Given the description of an element on the screen output the (x, y) to click on. 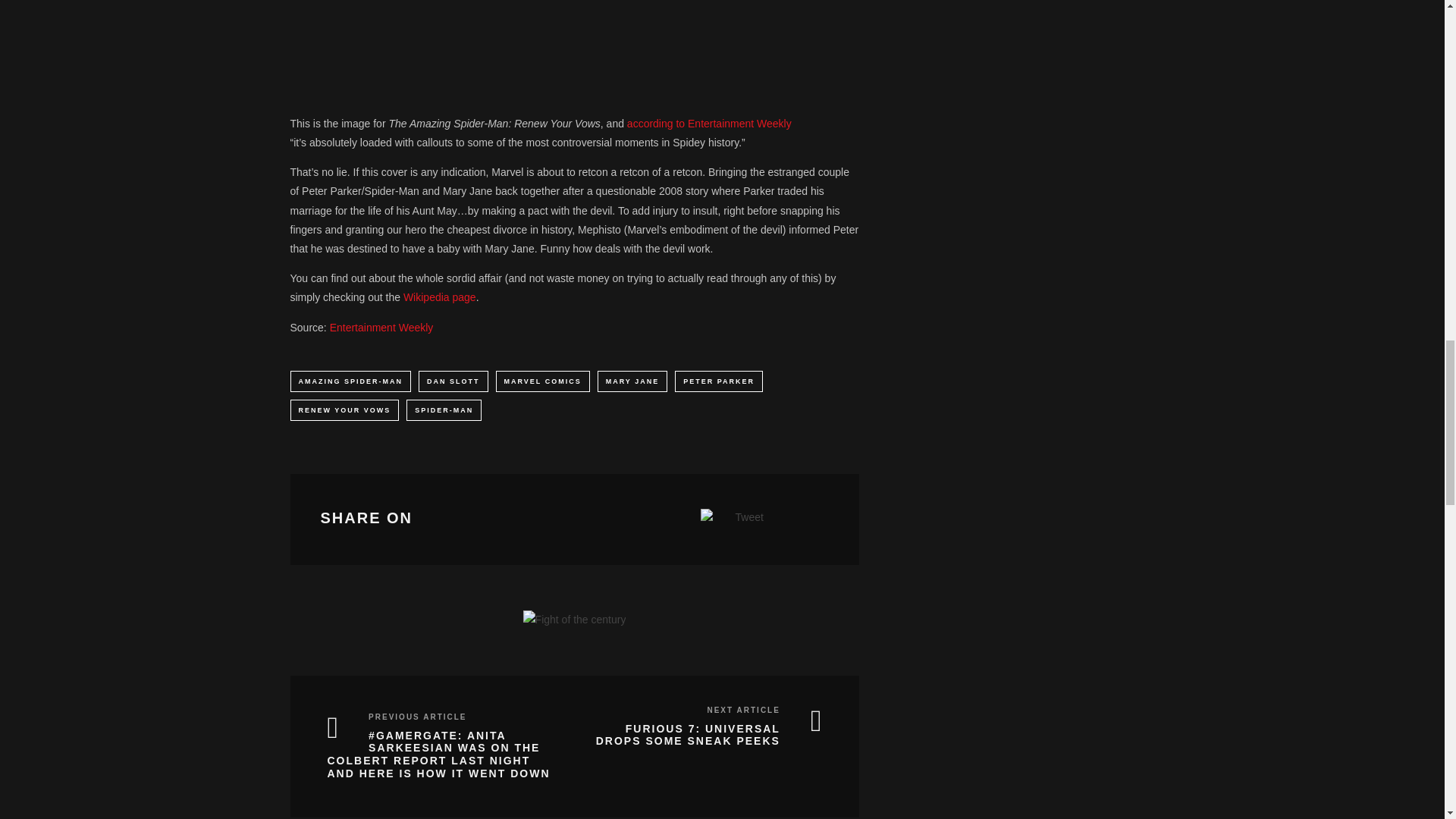
MARY JANE (632, 381)
AMAZING SPIDER-MAN (349, 381)
according to Entertainment Weekly (709, 123)
PETER PARKER (718, 381)
Wikipedia page (439, 297)
RENEW YOUR VOWS (343, 409)
MARVEL COMICS (542, 381)
DAN SLOTT (453, 381)
SPIDER-MAN (443, 409)
Entertainment Weekly (381, 327)
